Given the description of an element on the screen output the (x, y) to click on. 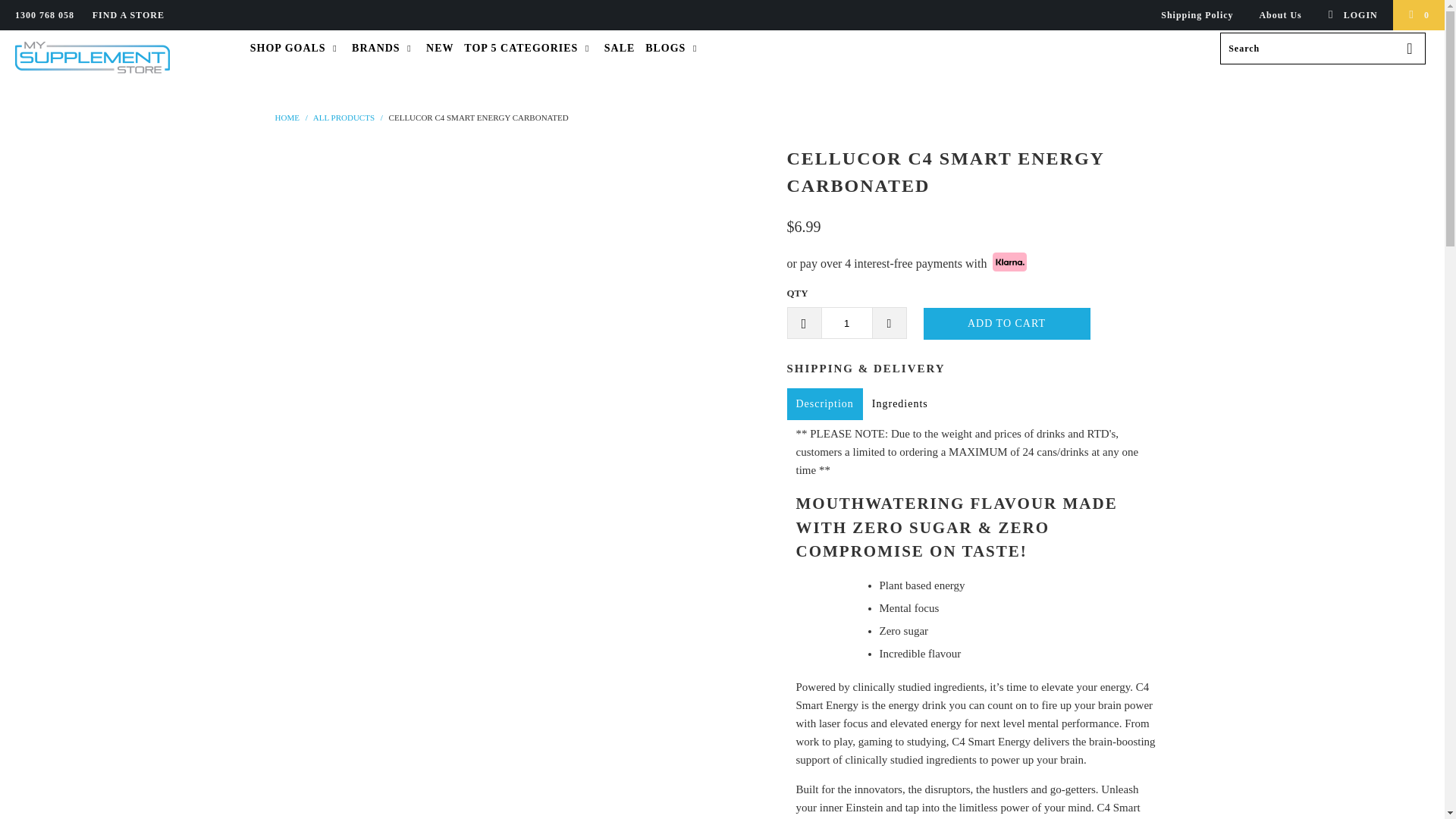
1 (846, 323)
My Account  (1351, 15)
All Products (343, 116)
Shipping Policy  (1196, 15)
My Supplement Store (122, 57)
My Supplement Store (286, 116)
About Us  (1279, 15)
